Given the description of an element on the screen output the (x, y) to click on. 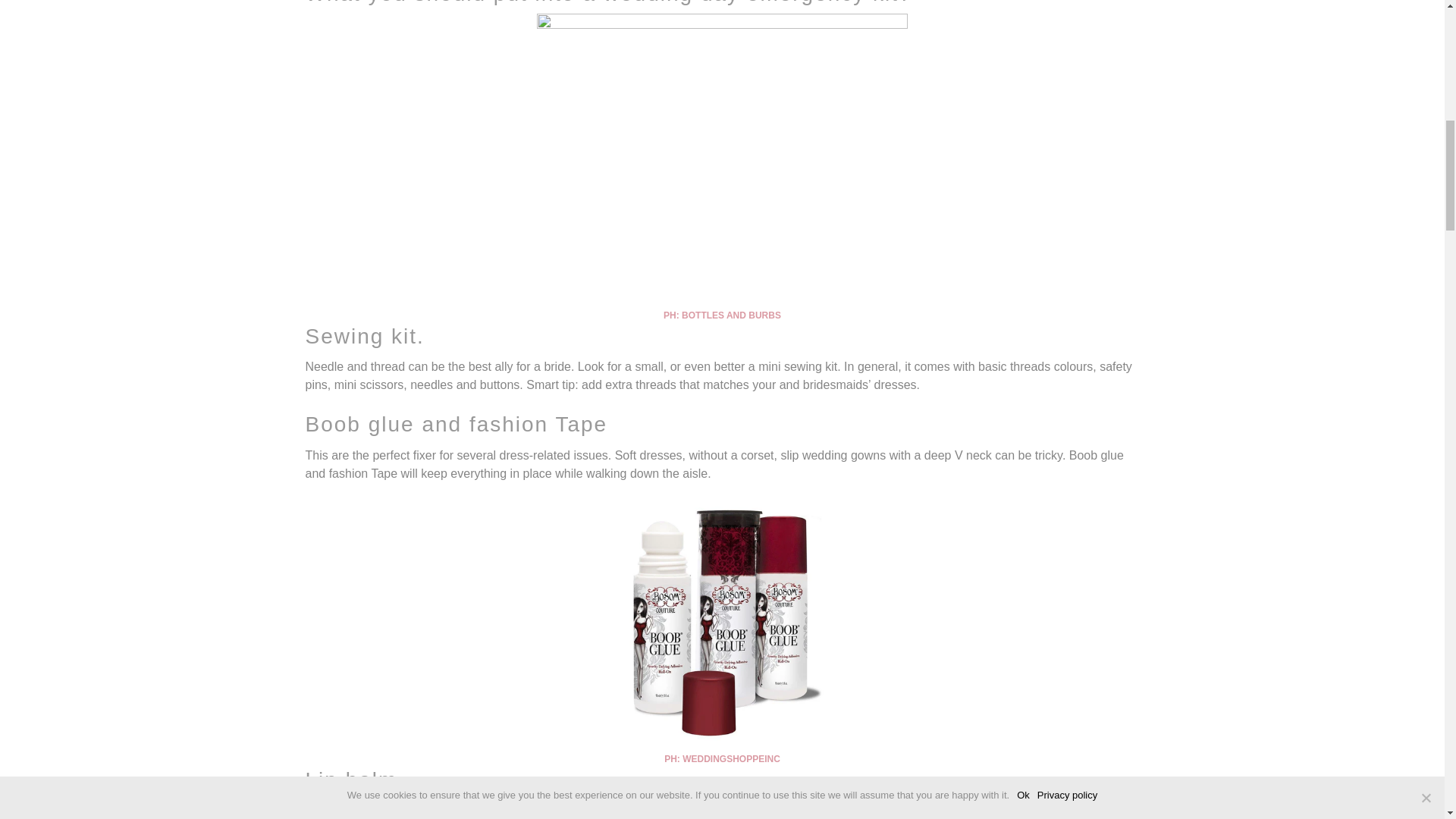
Boob Glue (731, 758)
WEDDINGSHOPPEINC (731, 758)
Bottles and Burbs (730, 315)
BOTTLES AND BURBS (730, 315)
